Given the description of an element on the screen output the (x, y) to click on. 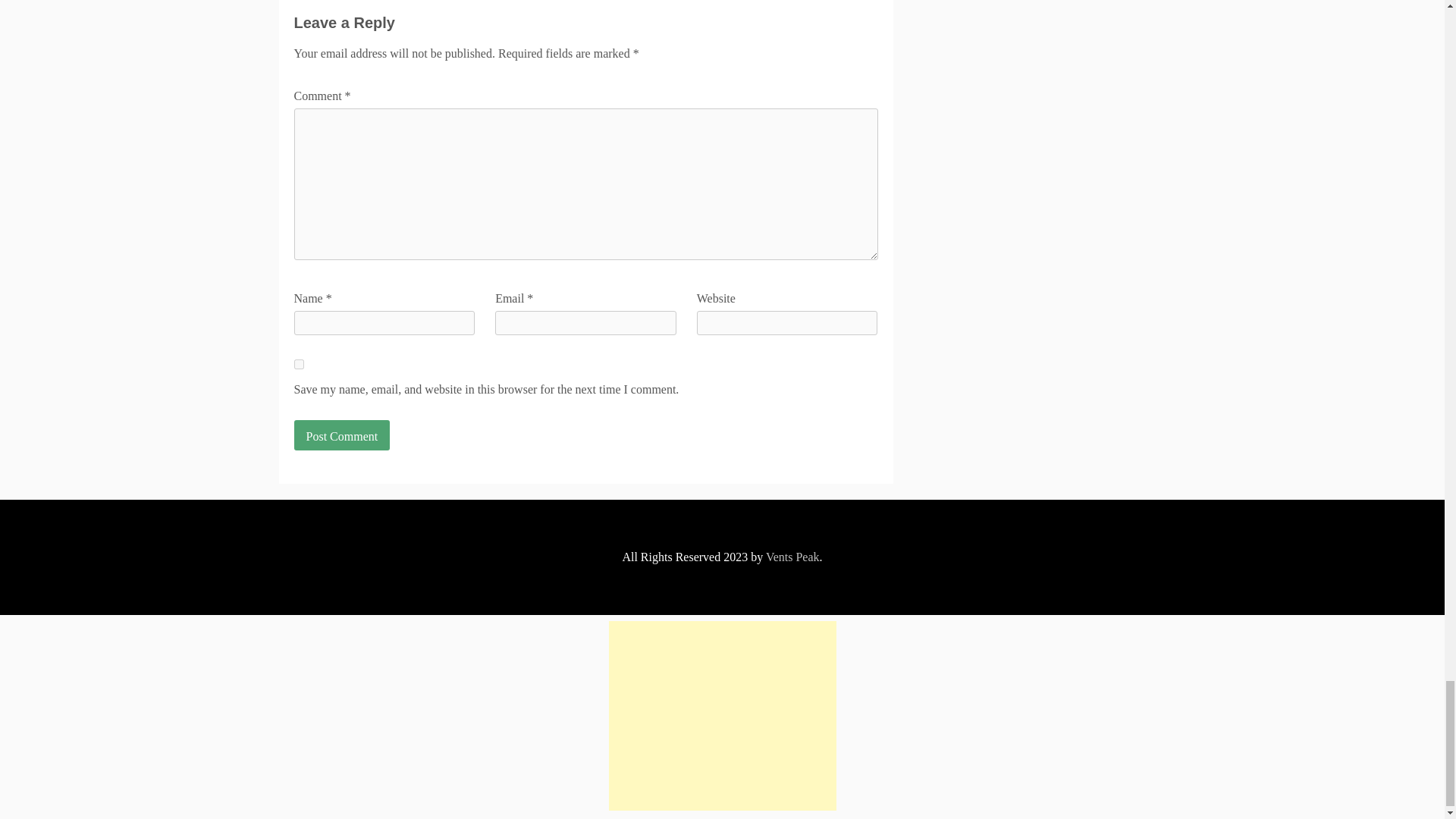
Post Comment (342, 435)
yes (299, 364)
Post Comment (342, 435)
